Given the description of an element on the screen output the (x, y) to click on. 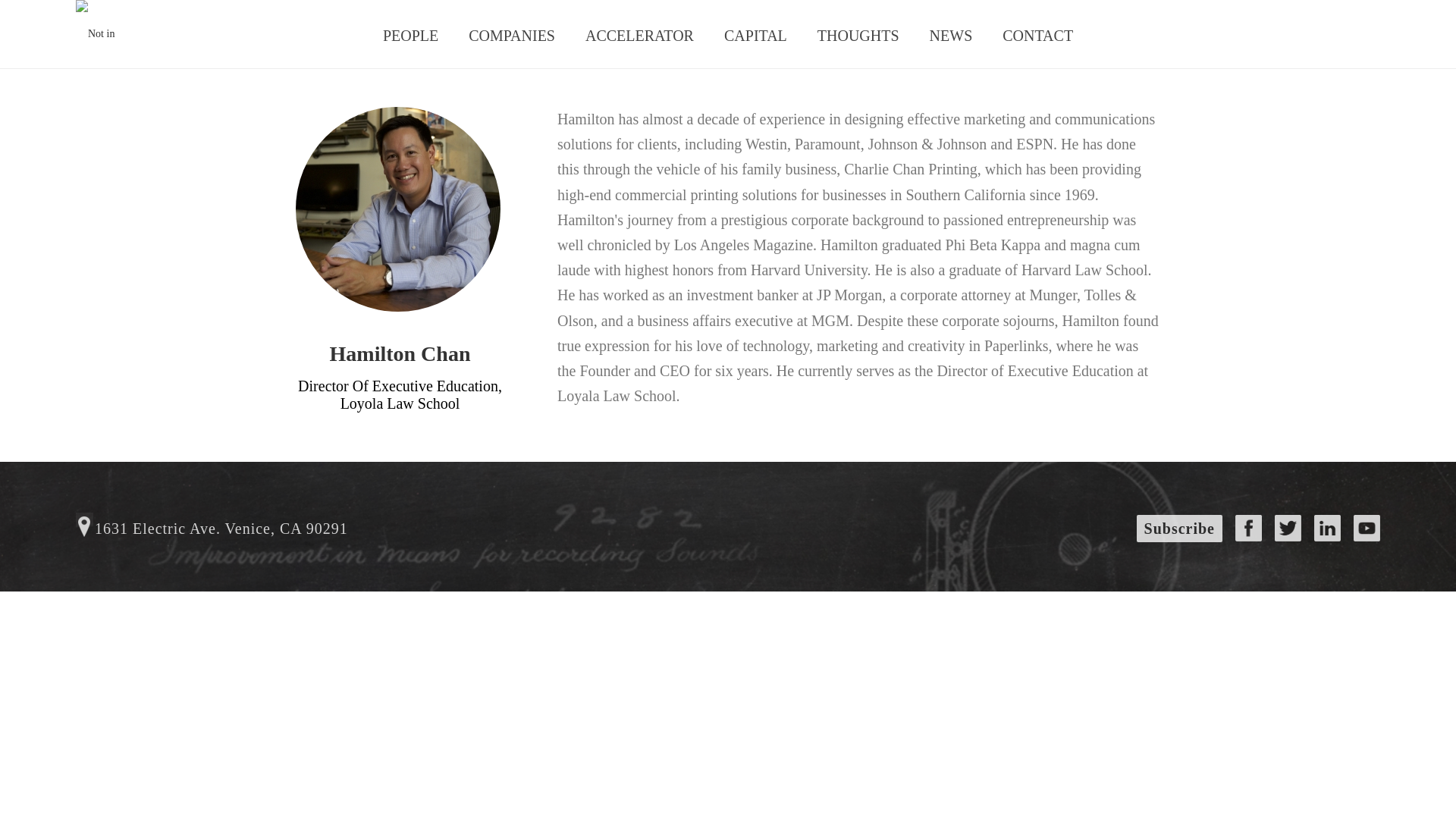
COMPANIES (511, 33)
CONTACT (1037, 33)
NEWS (951, 33)
CAPITAL (755, 33)
1631 Electric Ave. Venice, CA 90291 (211, 528)
CAPITAL (755, 33)
NEWS (951, 33)
THOUGHTS (858, 33)
THOUGHTS (858, 33)
PEOPLE (410, 33)
ACCELERATOR (639, 33)
COMPANIES (511, 33)
PEOPLE (410, 33)
ACCELERATOR (639, 33)
Hamilton Chan (397, 209)
